Given the description of an element on the screen output the (x, y) to click on. 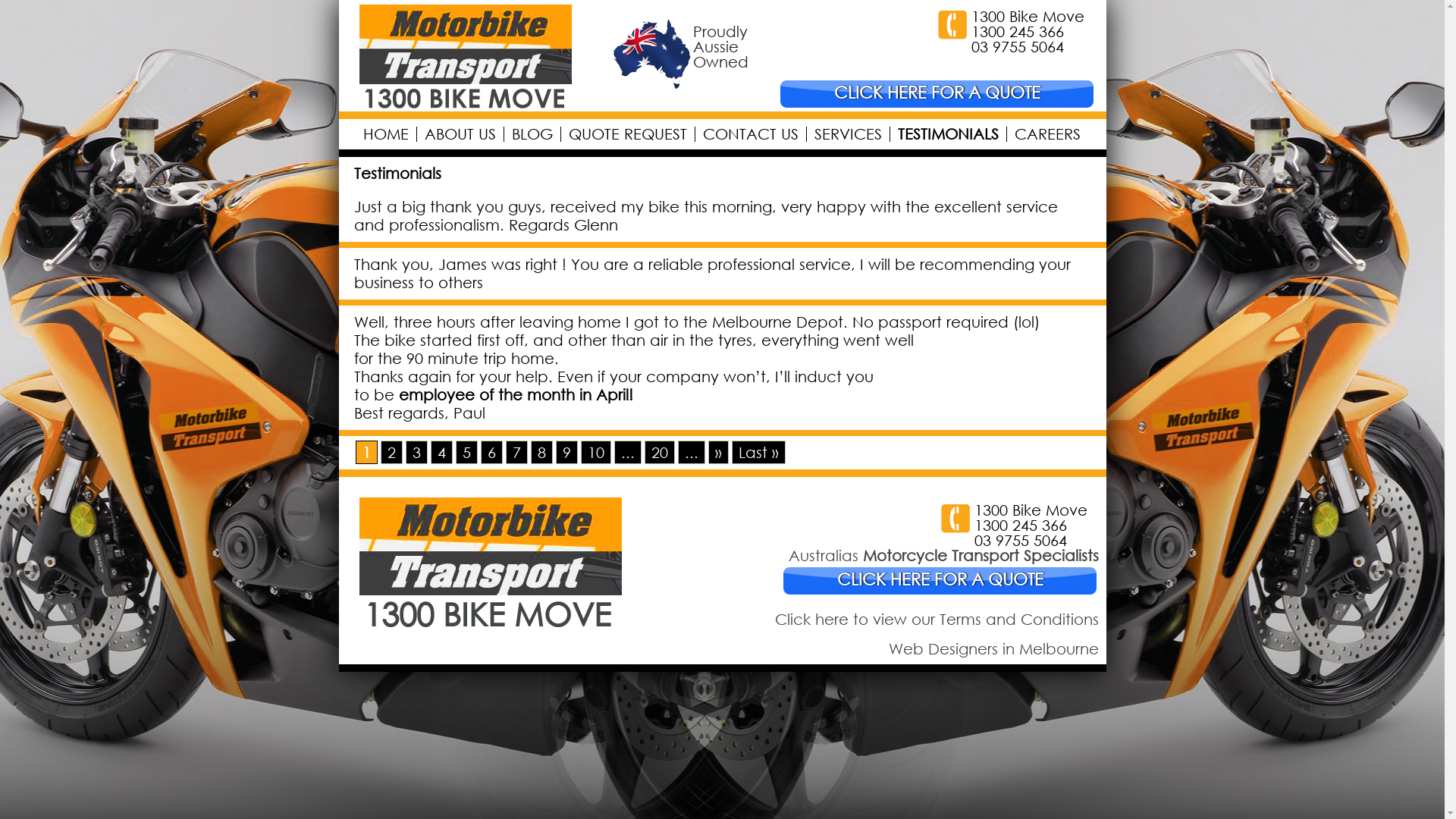
20 Element type: text (659, 452)
CLICK HERE FOR A QUOTE Element type: text (940, 578)
4 Element type: text (441, 452)
HOME Element type: text (384, 133)
1300 245 366 Element type: text (1016, 31)
8 Element type: text (541, 452)
10 Element type: text (595, 452)
Motorbike Transport Element type: hover (466, 103)
Web Designers in Melbourne Element type: text (993, 648)
03 9755 5064 Element type: text (1016, 46)
9 Element type: text (566, 452)
03 9755 5064 Element type: text (1019, 540)
CAREERS Element type: text (1046, 133)
Click here to view our Terms and Conditions Element type: text (936, 618)
BLOG Element type: text (531, 133)
1300 BIKE MOVE Element type: text (495, 606)
1300 245 366 Element type: text (1019, 524)
SERVICES Element type: text (846, 133)
7 Element type: text (516, 452)
QUOTE REQUEST Element type: text (626, 133)
TESTIMONIALS Element type: text (946, 133)
5 Element type: text (465, 452)
2 Element type: text (391, 452)
6 Element type: text (491, 452)
3 Element type: text (415, 452)
CONTACT US Element type: text (750, 133)
ABOUT US Element type: text (458, 133)
CLICK HERE FOR A QUOTE Element type: text (937, 91)
